Given the description of an element on the screen output the (x, y) to click on. 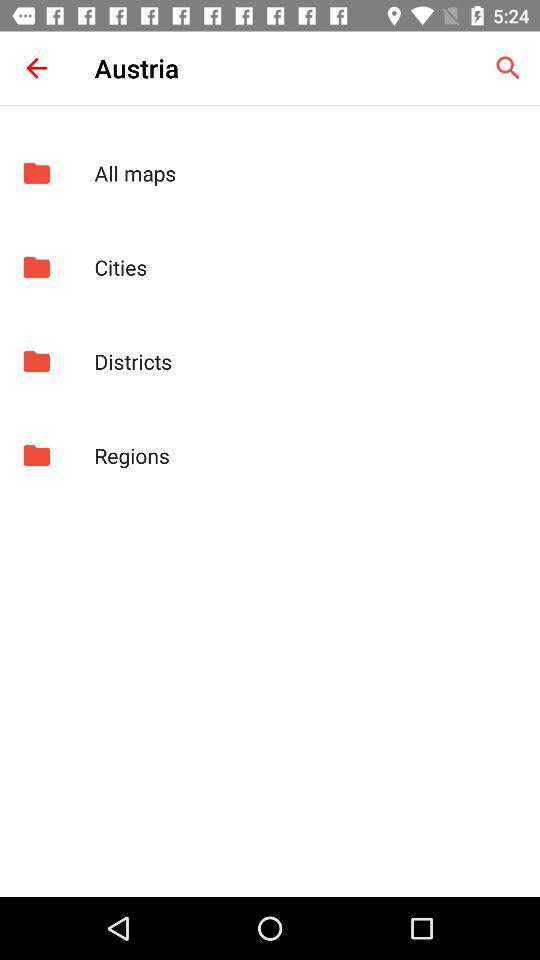
press icon to the right of austria item (508, 67)
